Given the description of an element on the screen output the (x, y) to click on. 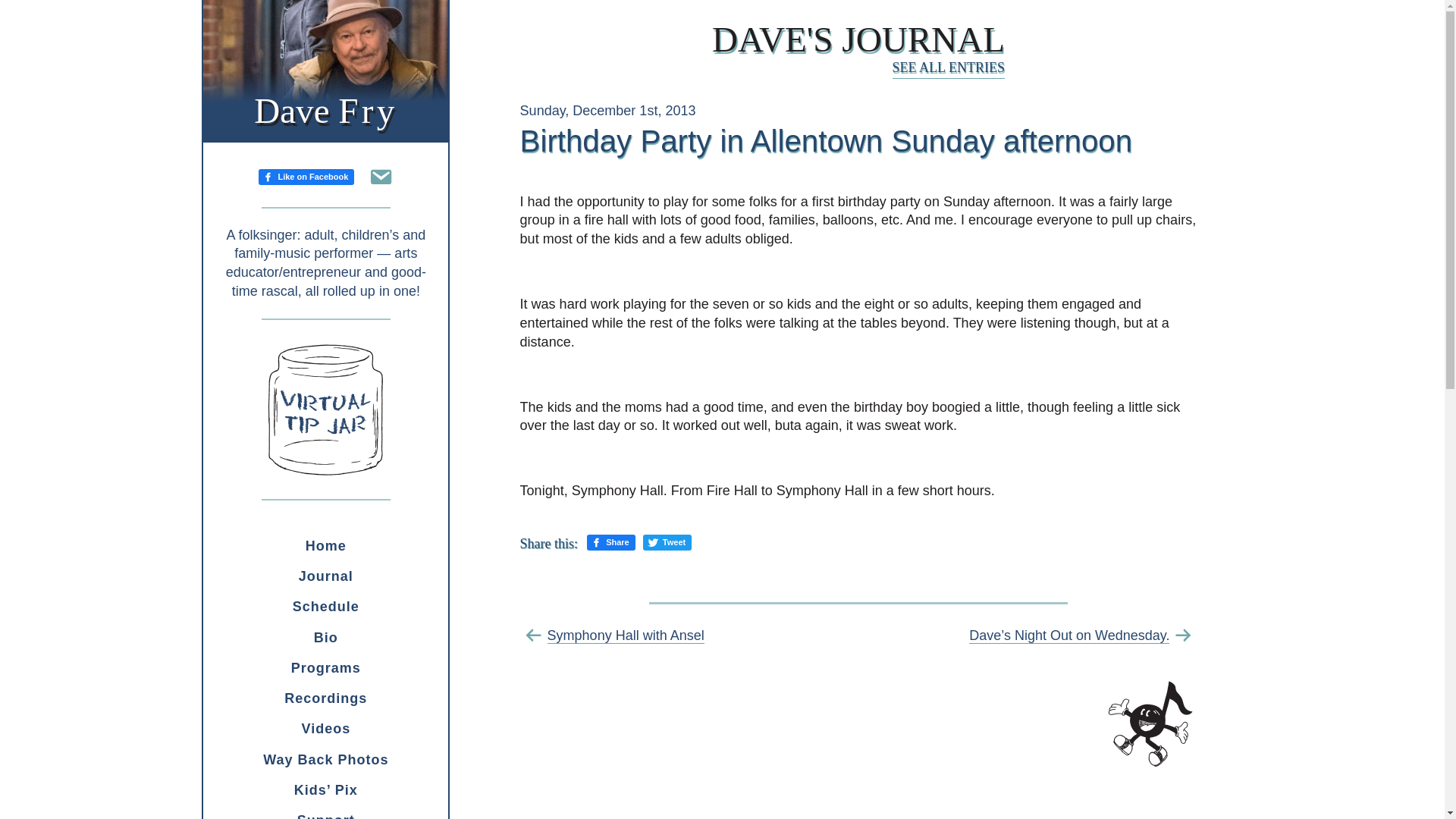
Dave Fry (325, 110)
Like on Facebook (306, 176)
Support (325, 812)
Journal (325, 576)
Programs (325, 667)
Recordings (325, 698)
Home (325, 545)
Tweet (667, 542)
Share (610, 542)
Bio (325, 637)
